Given the description of an element on the screen output the (x, y) to click on. 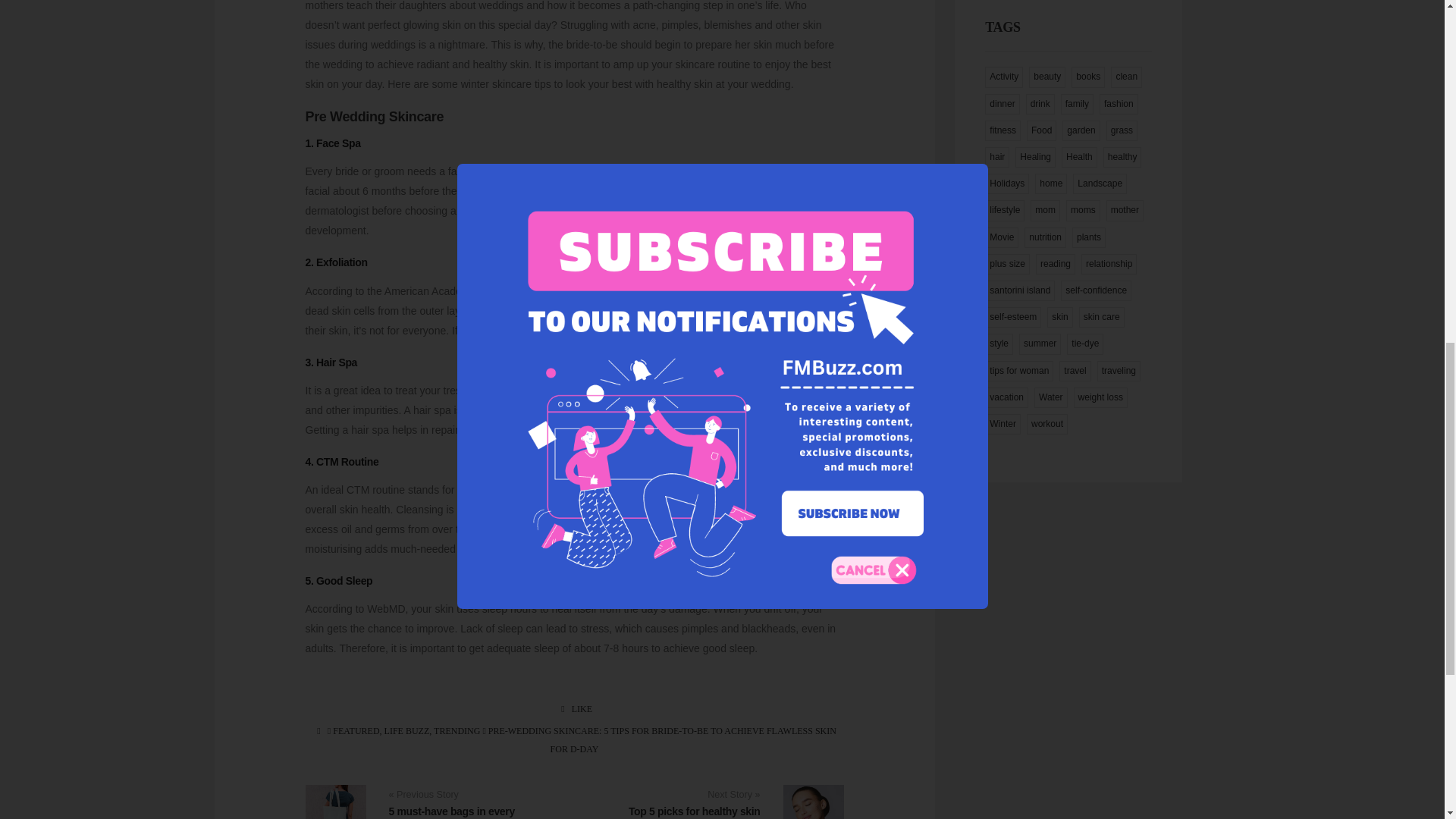
FEATURED (355, 730)
TRENDING (456, 730)
1 topic (1002, 104)
1 topic (1125, 76)
1 topic (1088, 76)
1 topic (1047, 76)
4 topics (1118, 104)
LIFE BUZZ (406, 730)
 LIKE (574, 708)
1 topic (1040, 104)
